Given the description of an element on the screen output the (x, y) to click on. 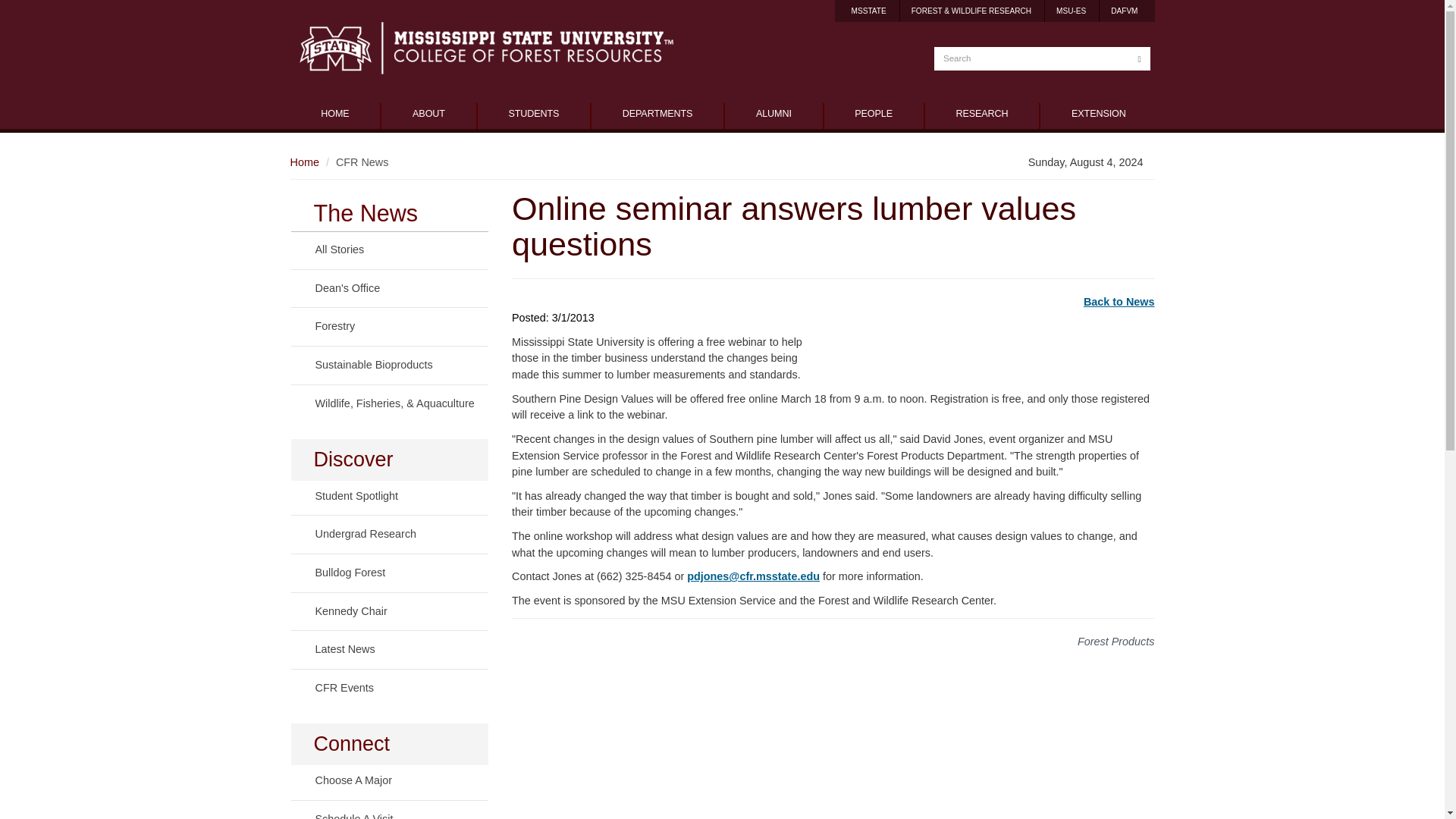
Mississippi State Univeristy Extension Service (1071, 11)
MSSTATE (869, 11)
Sustainable Bioproducts (390, 365)
RESEARCH (981, 115)
Division of Agriculture, Forestry and Veterinary Medicine (1123, 11)
Home (303, 162)
DAFVM (1123, 11)
Forestry (390, 327)
PEOPLE (873, 115)
STUDENTS (533, 115)
ABOUT (428, 115)
HOME (334, 115)
Dean's Office (390, 288)
MSU-ES (1071, 11)
The News (390, 213)
